Given the description of an element on the screen output the (x, y) to click on. 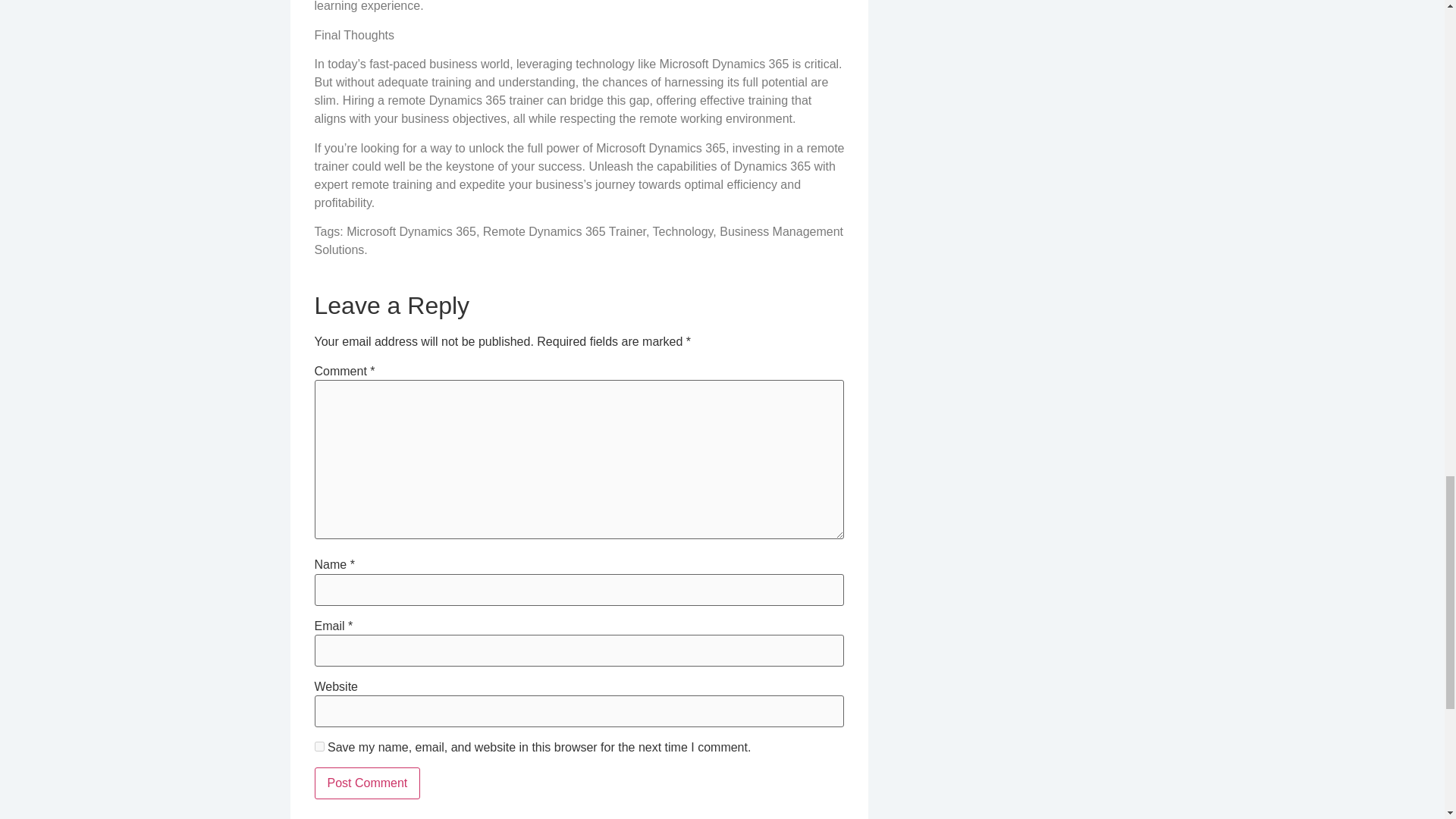
Post Comment (367, 783)
Post Comment (367, 783)
yes (318, 746)
